Given the description of an element on the screen output the (x, y) to click on. 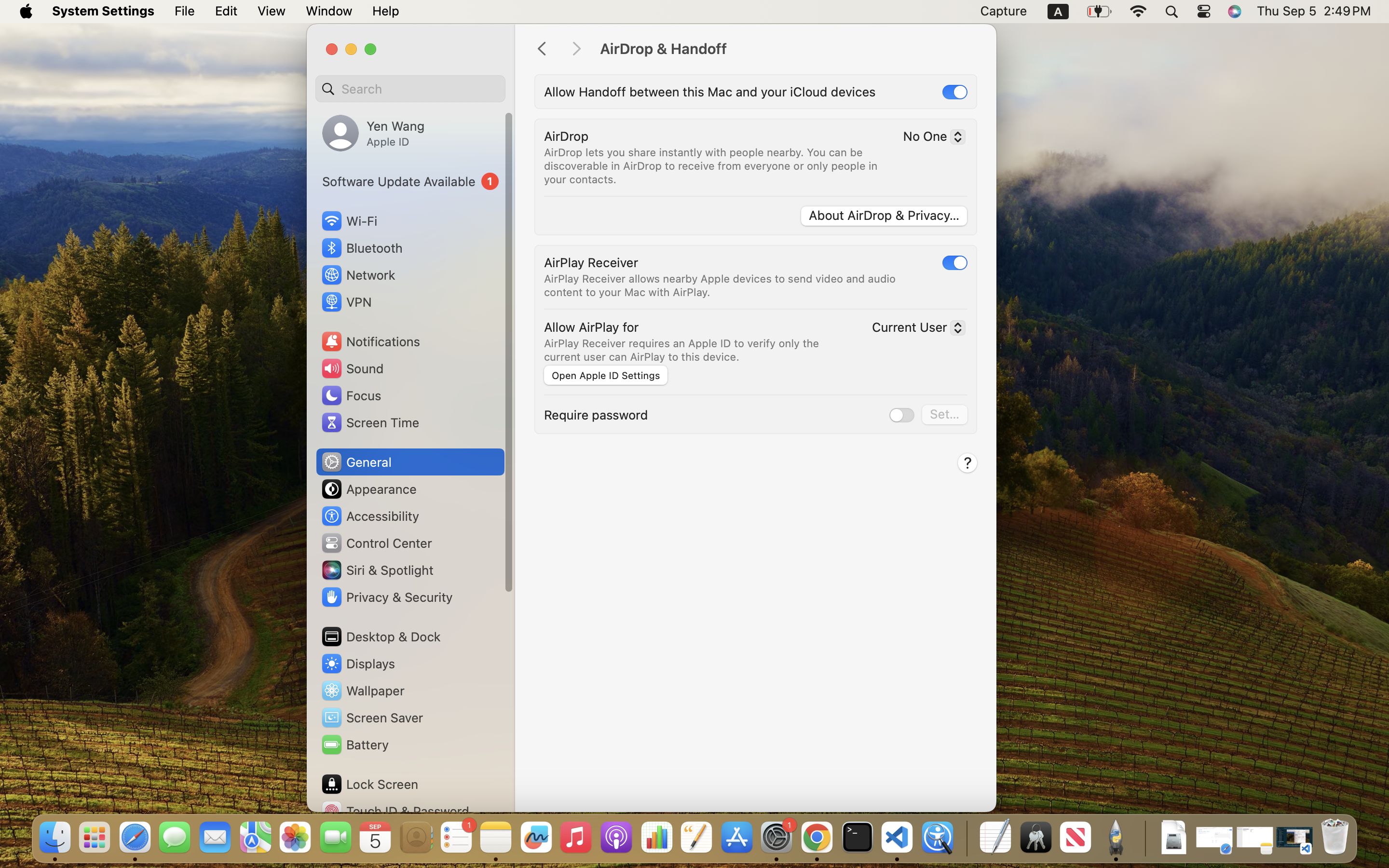
Battery Element type: AXStaticText (354, 744)
Lock Screen Element type: AXStaticText (369, 783)
Require password Element type: AXStaticText (596, 414)
AirPlay Receiver allows nearby Apple devices to send video and audio content to your Mac with AirPlay. Element type: AXStaticText (721, 284)
No One Element type: AXPopUpButton (930, 138)
